Given the description of an element on the screen output the (x, y) to click on. 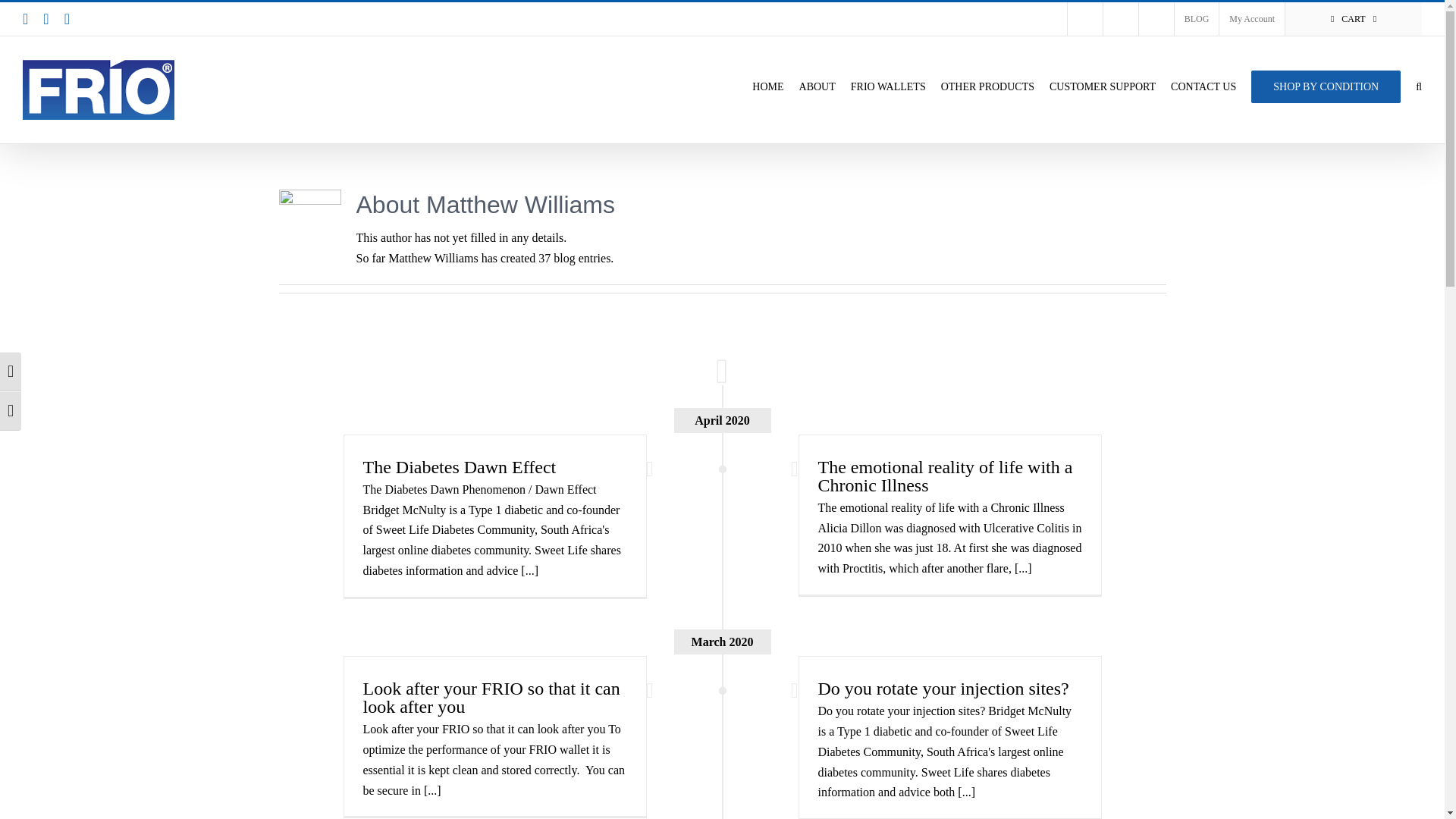
Log In (1309, 146)
OTHER PRODUCTS (986, 85)
My Account (1252, 19)
BLOG (1197, 19)
CART (1353, 19)
